Given the description of an element on the screen output the (x, y) to click on. 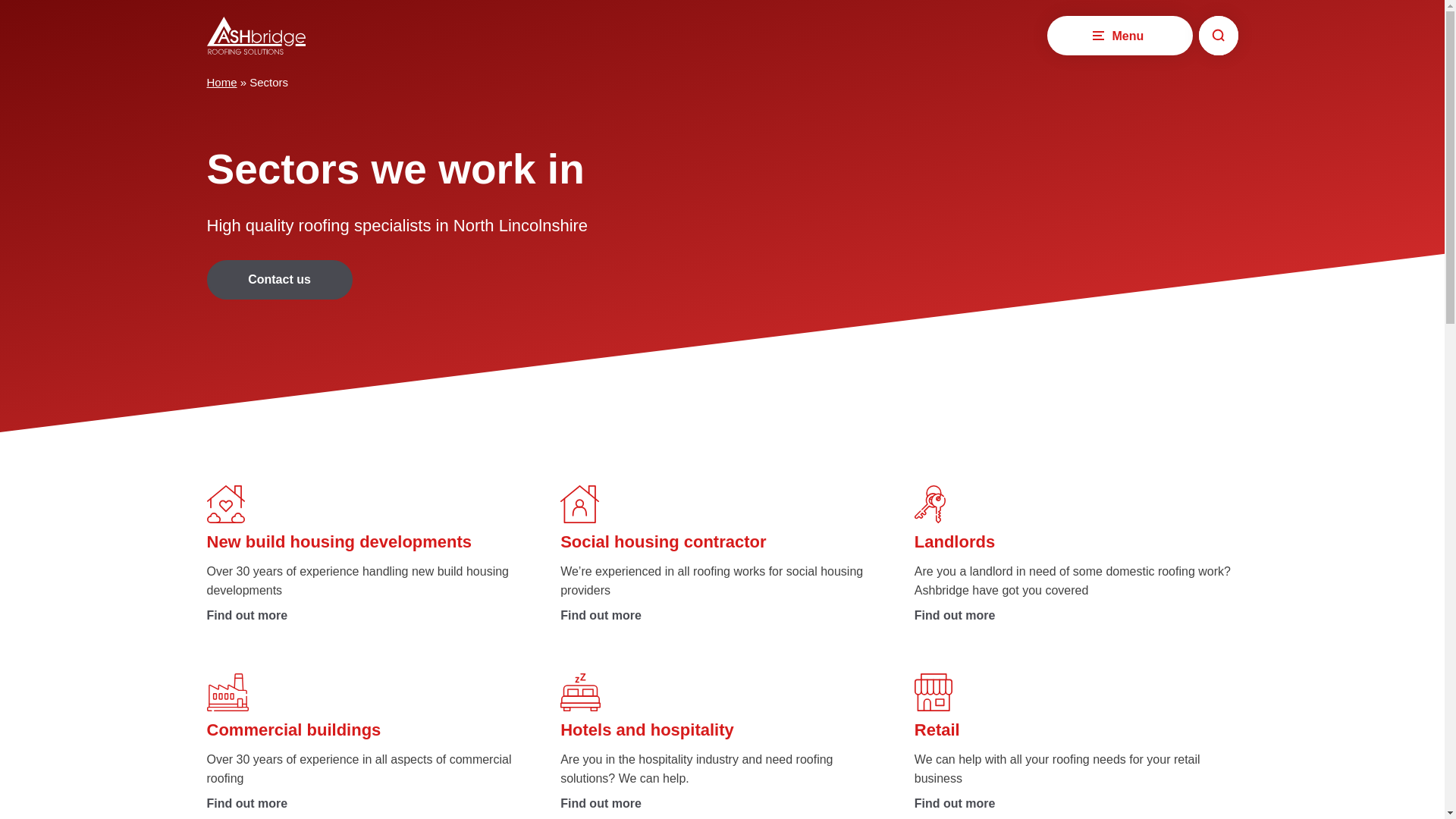
Find out more (367, 615)
Contact us (279, 278)
Find out more (367, 803)
Find out more (721, 803)
Home (220, 82)
Find out more (721, 615)
Find out more (1076, 615)
Find out more (1076, 803)
